Given the description of an element on the screen output the (x, y) to click on. 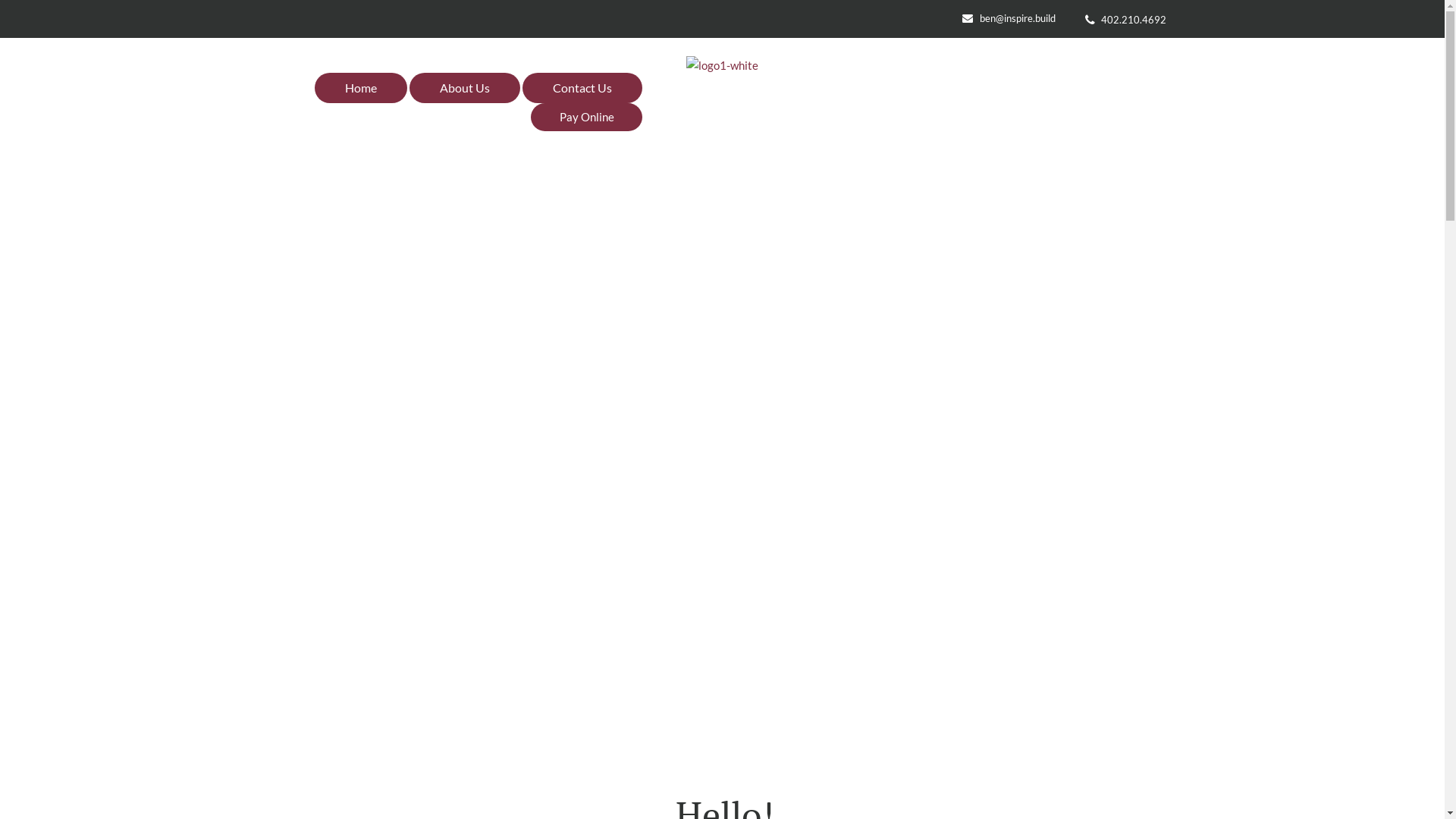
About Us Element type: text (464, 87)
402.210.4692 Element type: text (1133, 19)
Home Element type: text (360, 87)
Contact Us Element type: text (582, 87)
Pay Online Element type: text (586, 117)
ben@inspire.build Element type: text (1017, 18)
